Given the description of an element on the screen output the (x, y) to click on. 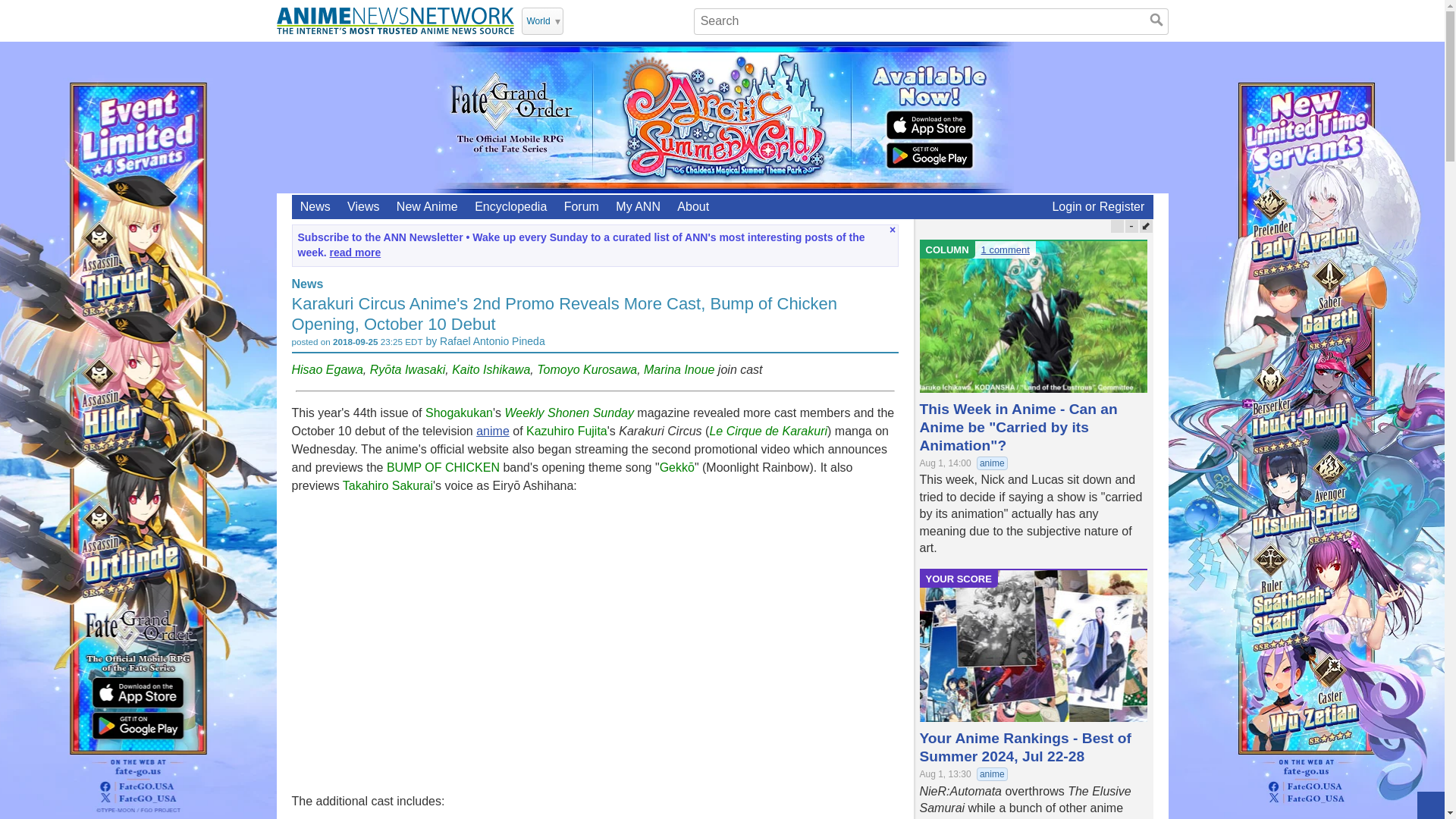
Instagram (636, 20)
Youtube (597, 20)
Facebook (617, 20)
Return to Homepage (394, 20)
TikTok (656, 20)
Choose Your Edition (542, 21)
Bluesky (675, 20)
Twitter (577, 20)
